Given the description of an element on the screen output the (x, y) to click on. 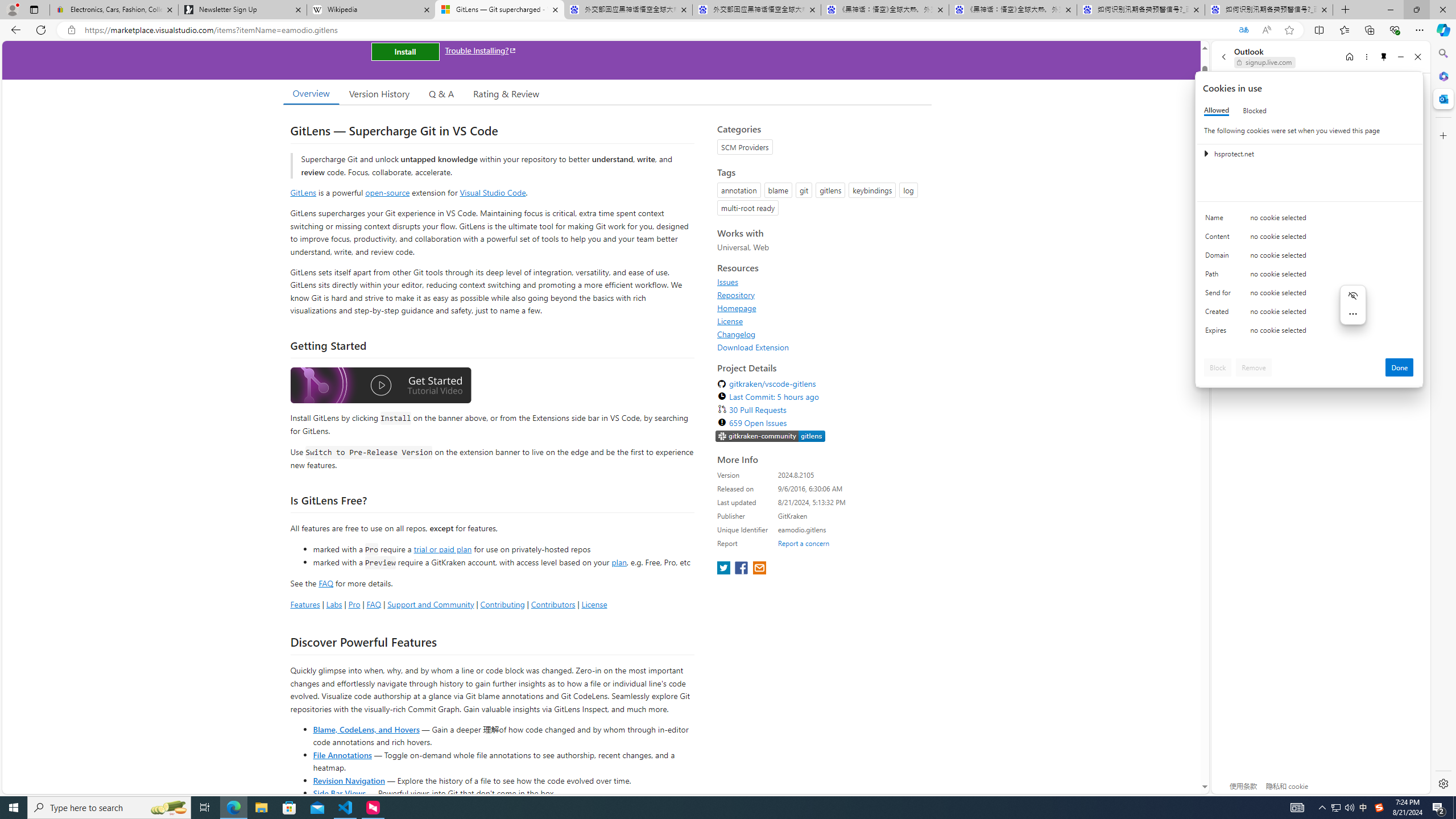
Mini menu on text selection (1352, 311)
Class: c0153 c0157 c0154 (1309, 220)
Remove (1253, 367)
Allowed (1216, 110)
